Given the description of an element on the screen output the (x, y) to click on. 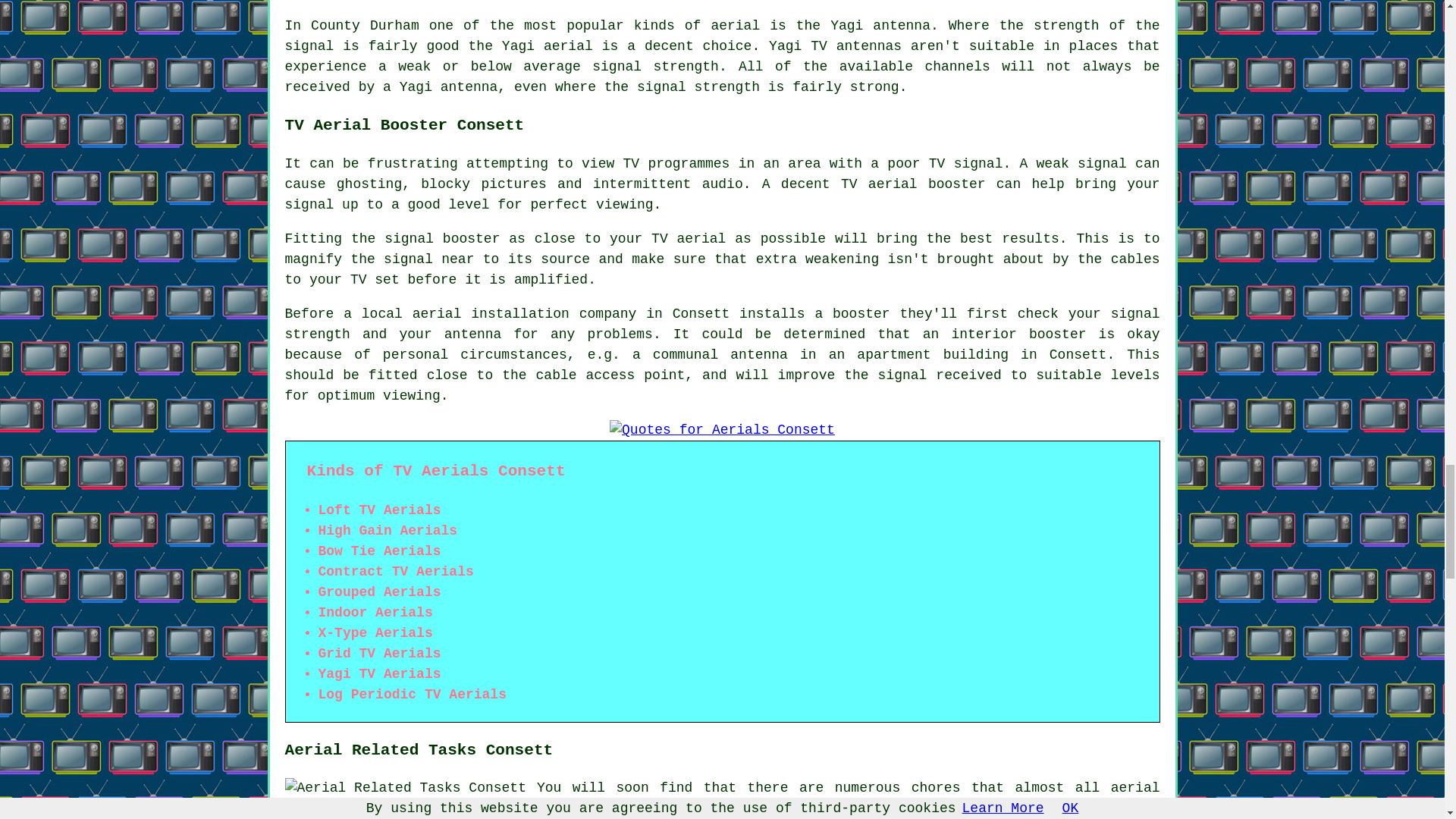
Aerial Related Tasks Consett (405, 788)
Quotes for Aerials Consett (722, 430)
aerial installers (722, 797)
